Given the description of an element on the screen output the (x, y) to click on. 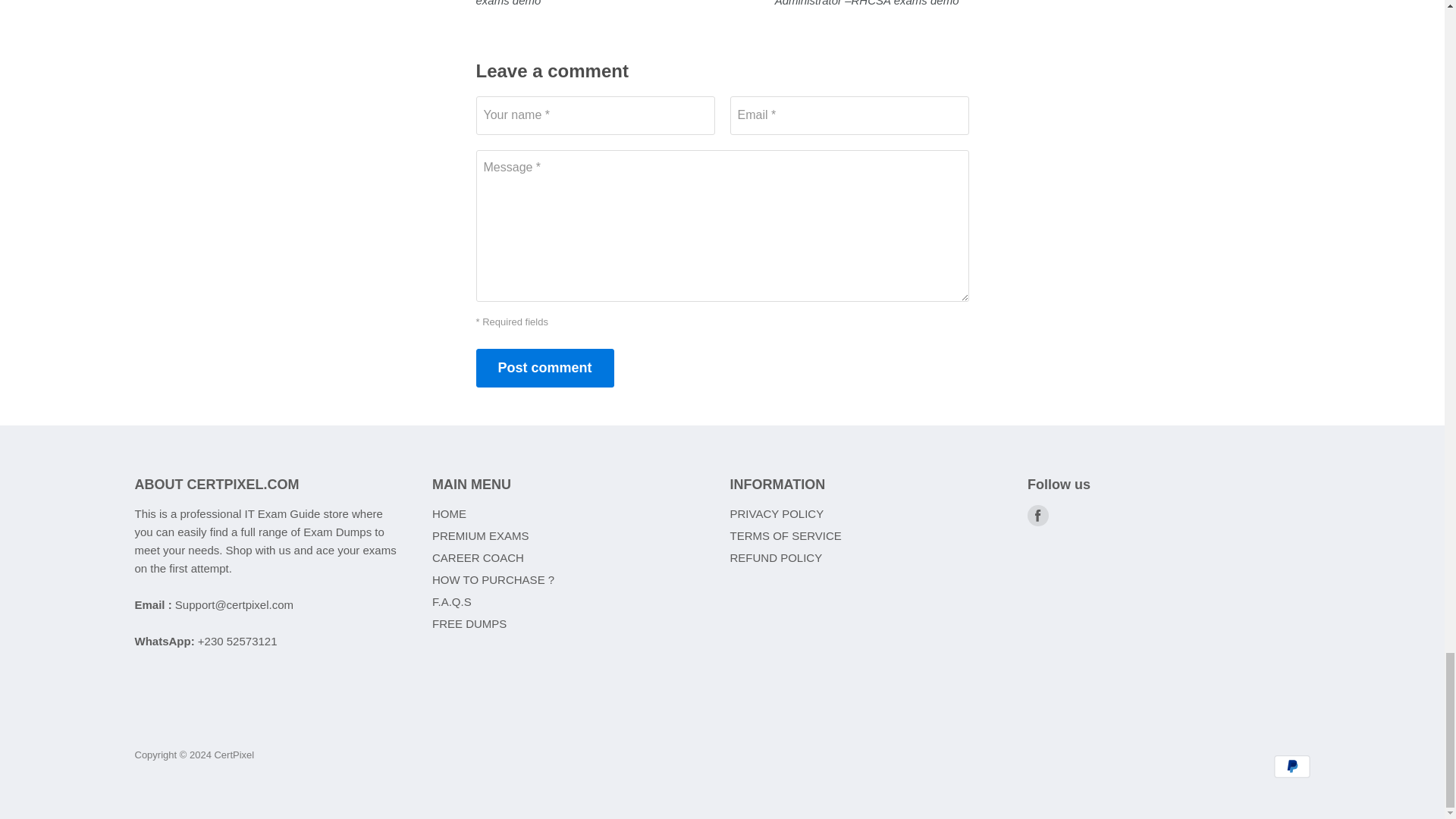
Facebook (1037, 515)
HOME (448, 513)
F.A.Q.S (451, 601)
FREE DUMPS (469, 623)
PayPal (1292, 766)
Post comment (545, 367)
HOW TO PURCHASE ? (493, 579)
TERMS OF SERVICE (785, 535)
CAREER COACH (478, 557)
PRIVACY POLICY (776, 513)
